Given the description of an element on the screen output the (x, y) to click on. 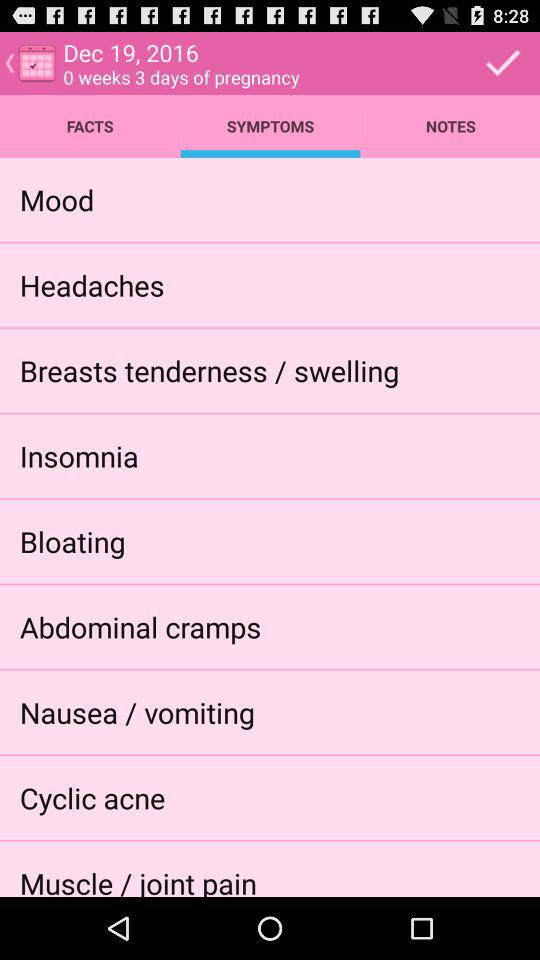
press the item below the abdominal cramps app (136, 712)
